Given the description of an element on the screen output the (x, y) to click on. 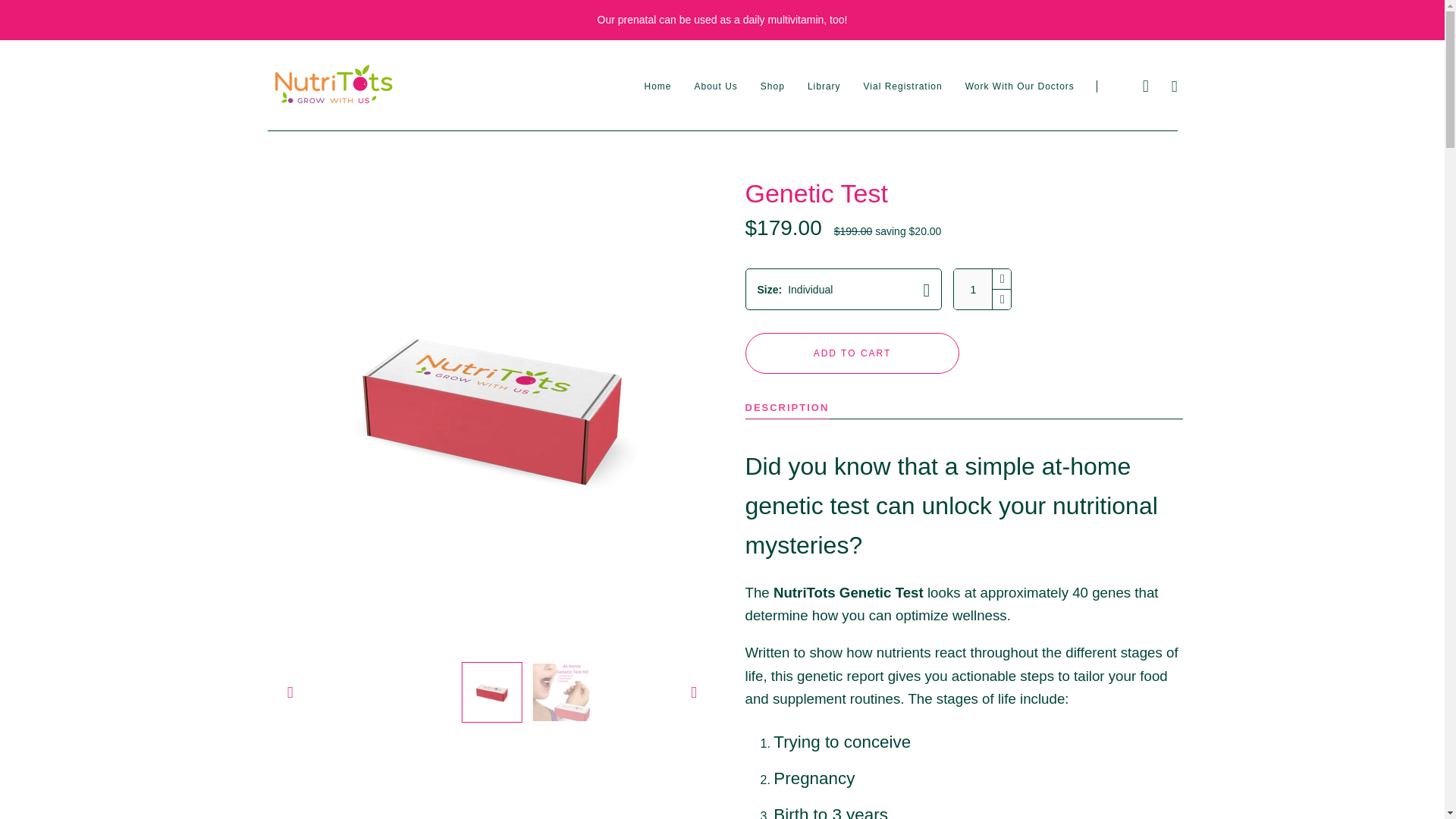
Vial Registration (902, 86)
Library (824, 86)
Add to cart (851, 352)
Work With Our Doctors (1019, 86)
About Us (715, 86)
1 (972, 289)
Add to cart (851, 352)
Shop (772, 86)
Home (657, 86)
